Given the description of an element on the screen output the (x, y) to click on. 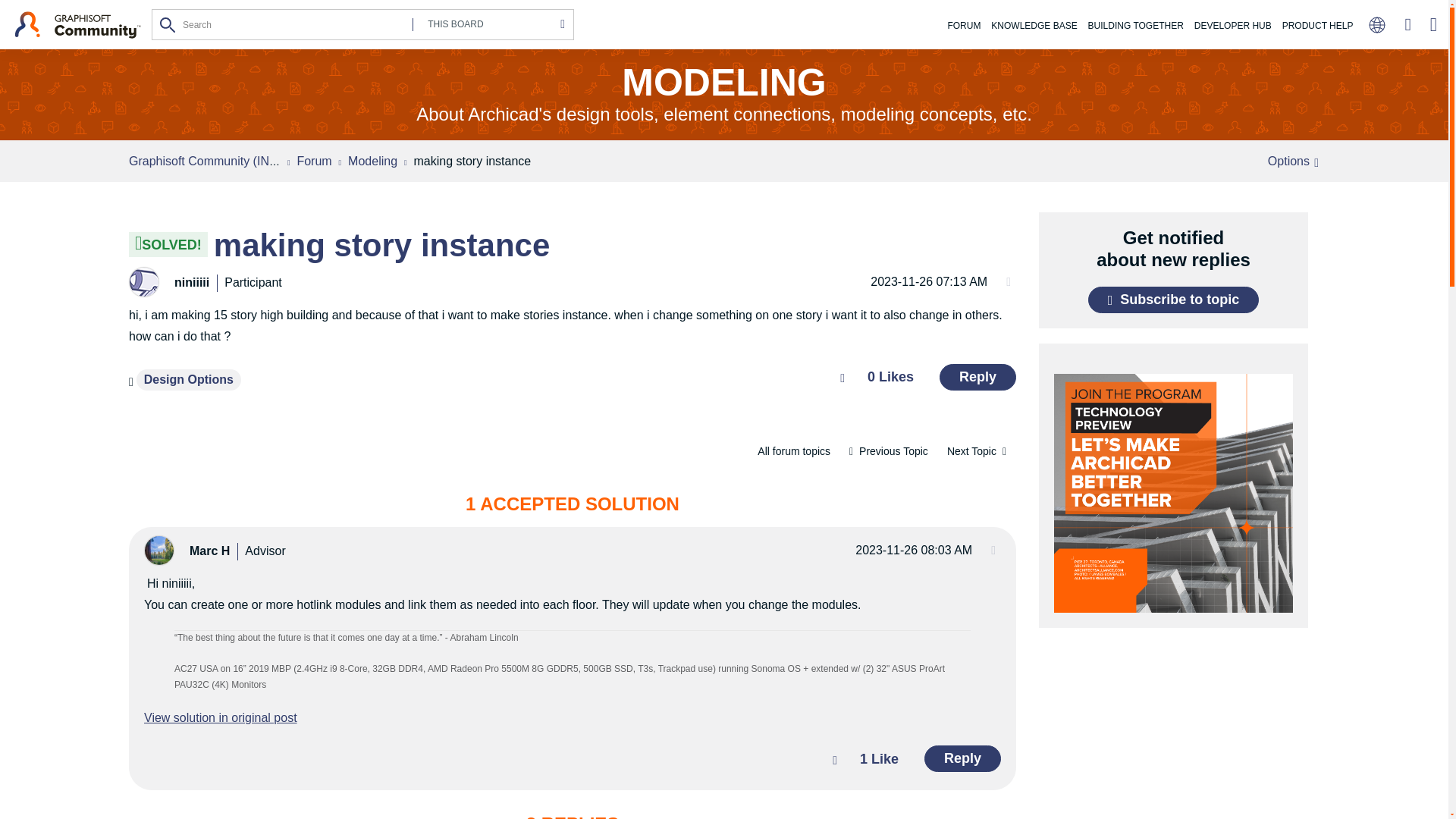
FORUM (963, 25)
Search (362, 24)
Search (167, 24)
Search (167, 24)
Search (167, 24)
KNOWLEDGE BASE (1033, 25)
Search Granularity (488, 24)
